Given the description of an element on the screen output the (x, y) to click on. 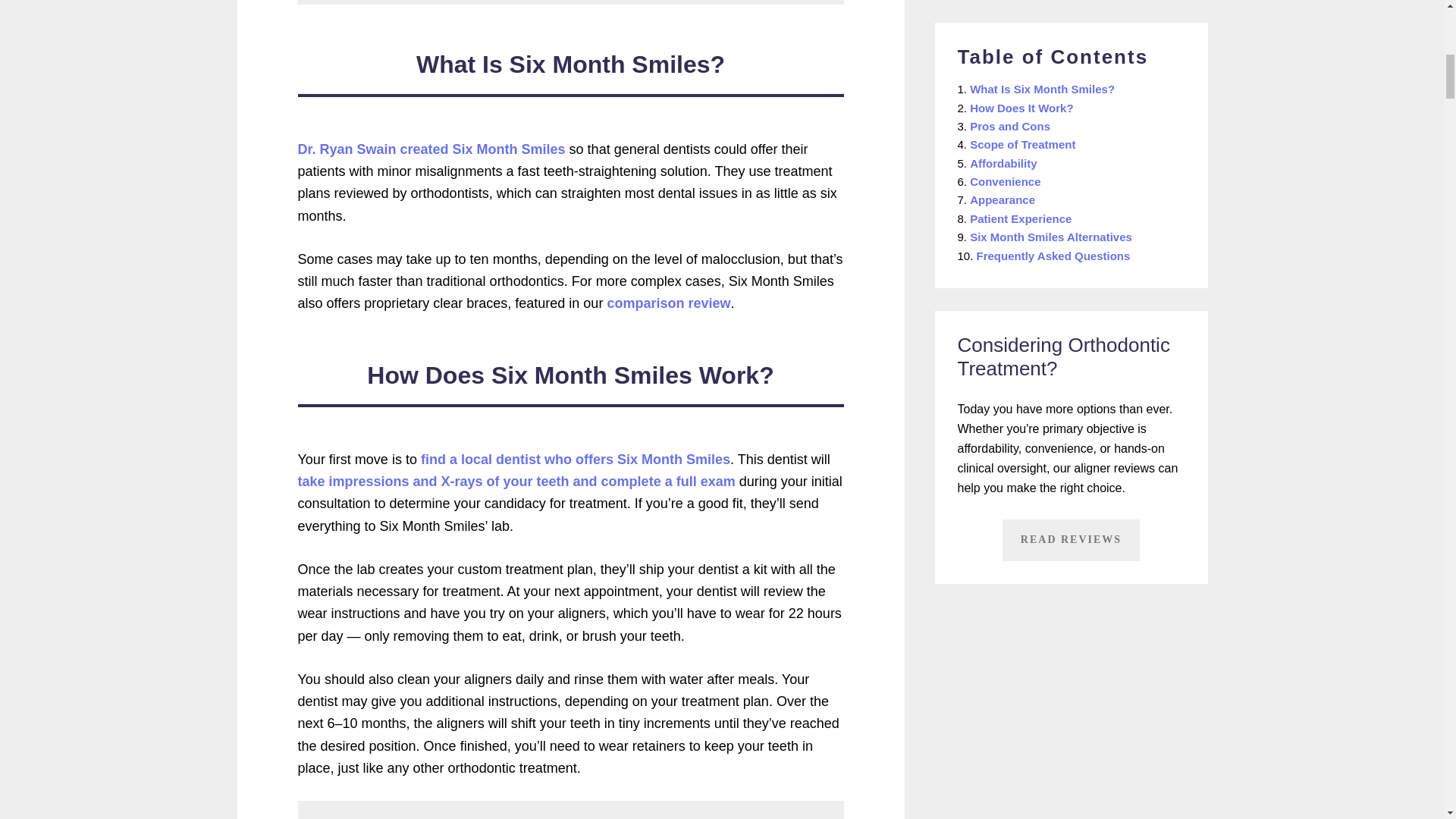
comparison review (668, 303)
find a local dentist who offers Six Month Smiles (575, 459)
Dr. Ryan Swain created Six Month Smiles (430, 149)
